Given the description of an element on the screen output the (x, y) to click on. 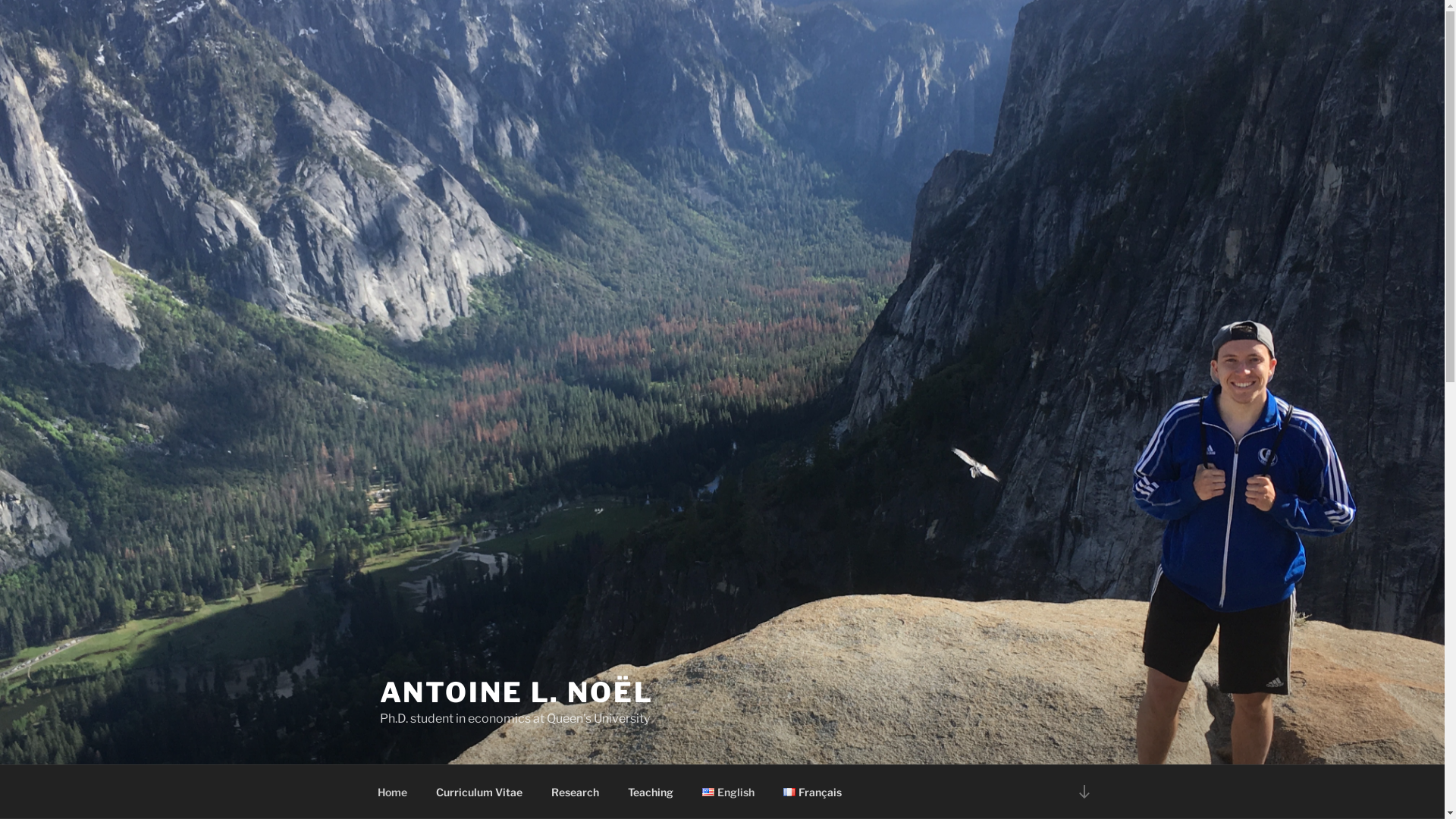
Skip to content Element type: text (0, 0)
Scroll down to content Element type: text (1083, 790)
Home Element type: text (392, 791)
Teaching Element type: text (650, 791)
Curriculum Vitae Element type: text (479, 791)
English Element type: text (727, 791)
English Element type: hover (708, 791)
Research Element type: text (575, 791)
